Given the description of an element on the screen output the (x, y) to click on. 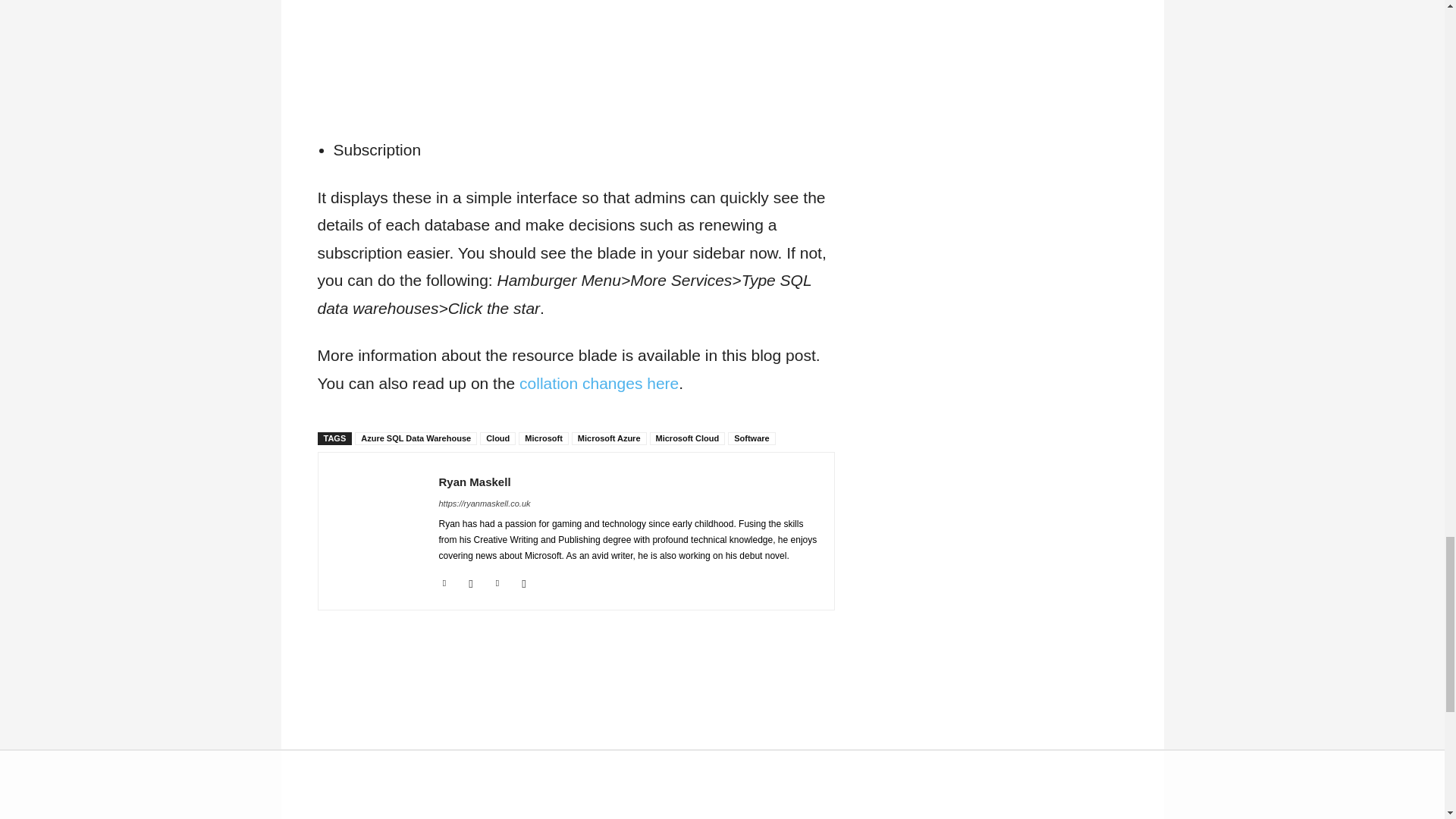
Xing (523, 580)
Twitter (497, 580)
Linkedin (443, 580)
Mail (471, 580)
